Given the description of an element on the screen output the (x, y) to click on. 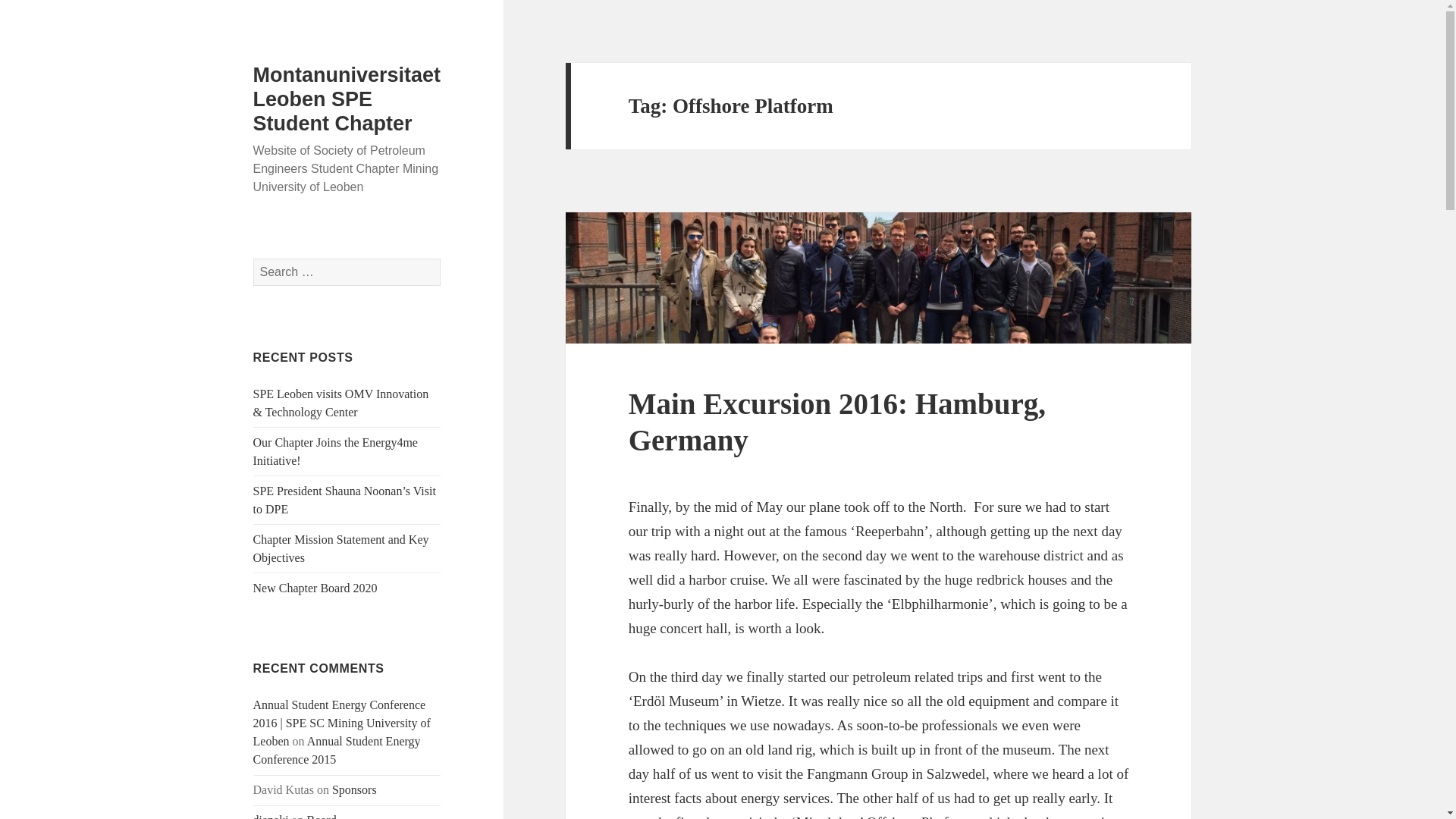
Board (321, 816)
Chapter Mission Statement and Key Objectives (341, 548)
Annual Student Energy Conference 2015 (336, 749)
Our Chapter Joins the Energy4me Initiative! (335, 450)
New Chapter Board 2020 (315, 587)
Sponsors (354, 789)
dianaki (270, 816)
Montanuniversitaet Leoben SPE Student Chapter (347, 99)
